Given the description of an element on the screen output the (x, y) to click on. 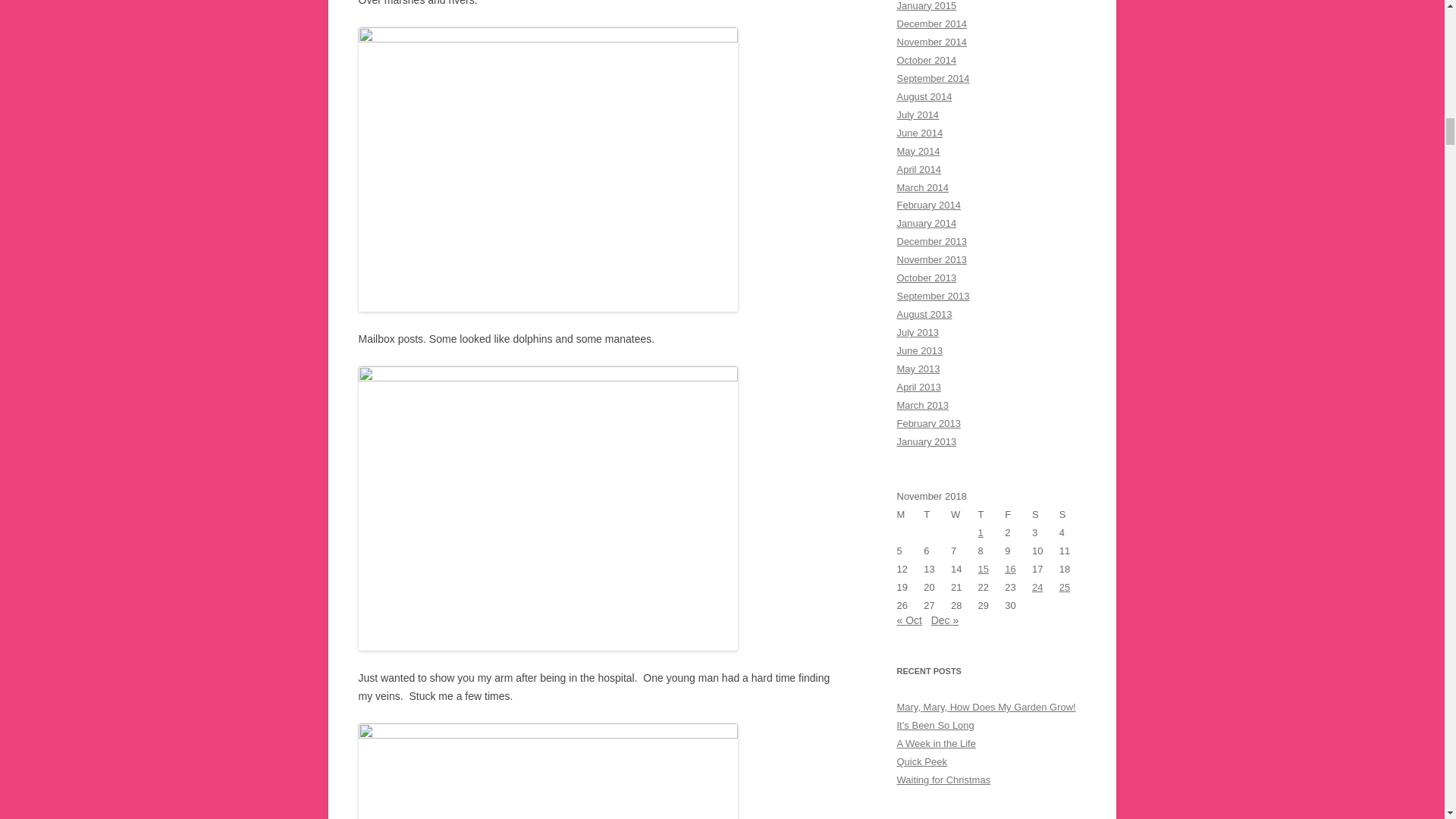
Thursday (992, 515)
Monday (909, 515)
Wednesday (964, 515)
Tuesday (936, 515)
